Given the description of an element on the screen output the (x, y) to click on. 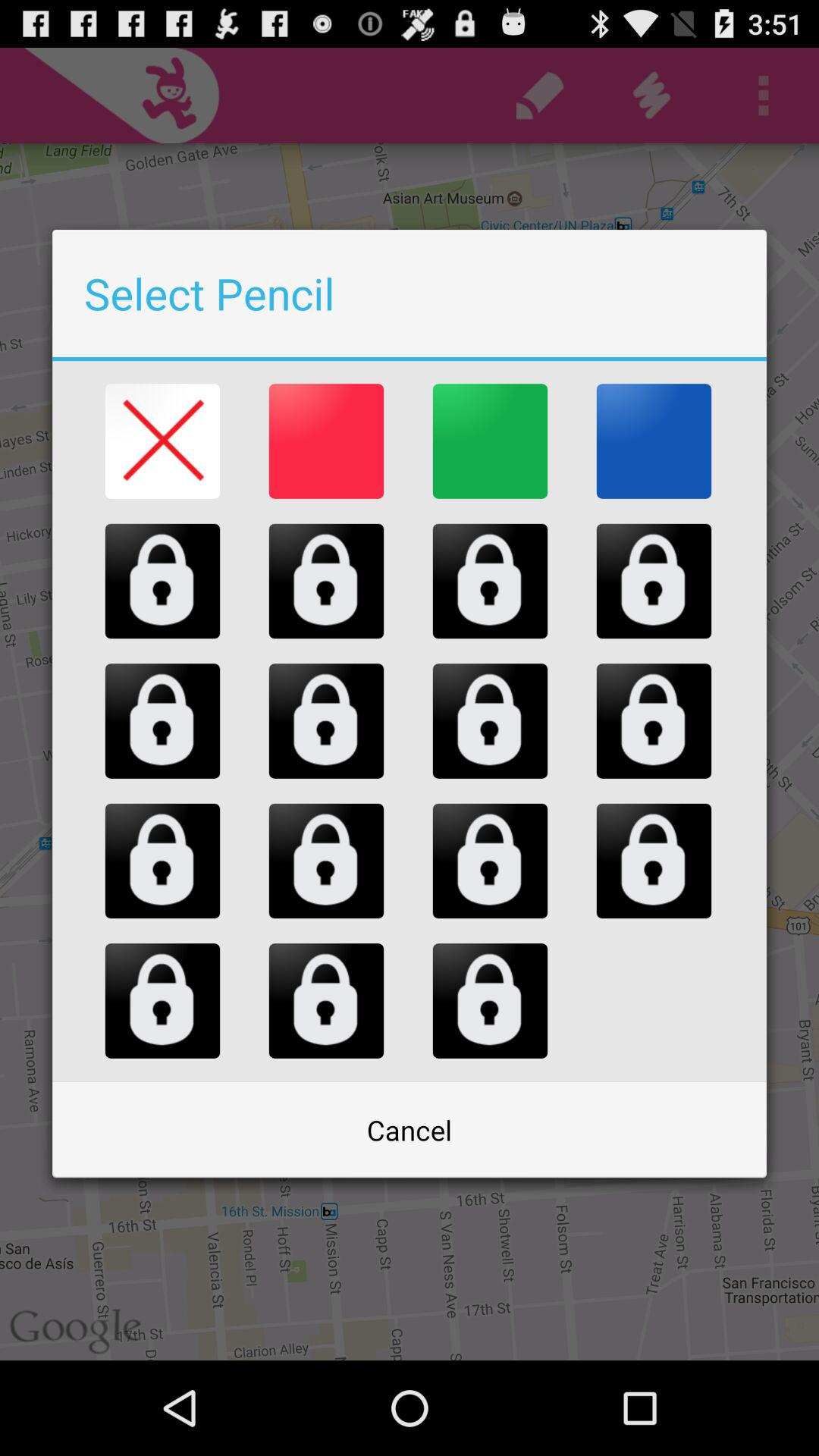
jump to the cancel icon (409, 1129)
